Given the description of an element on the screen output the (x, y) to click on. 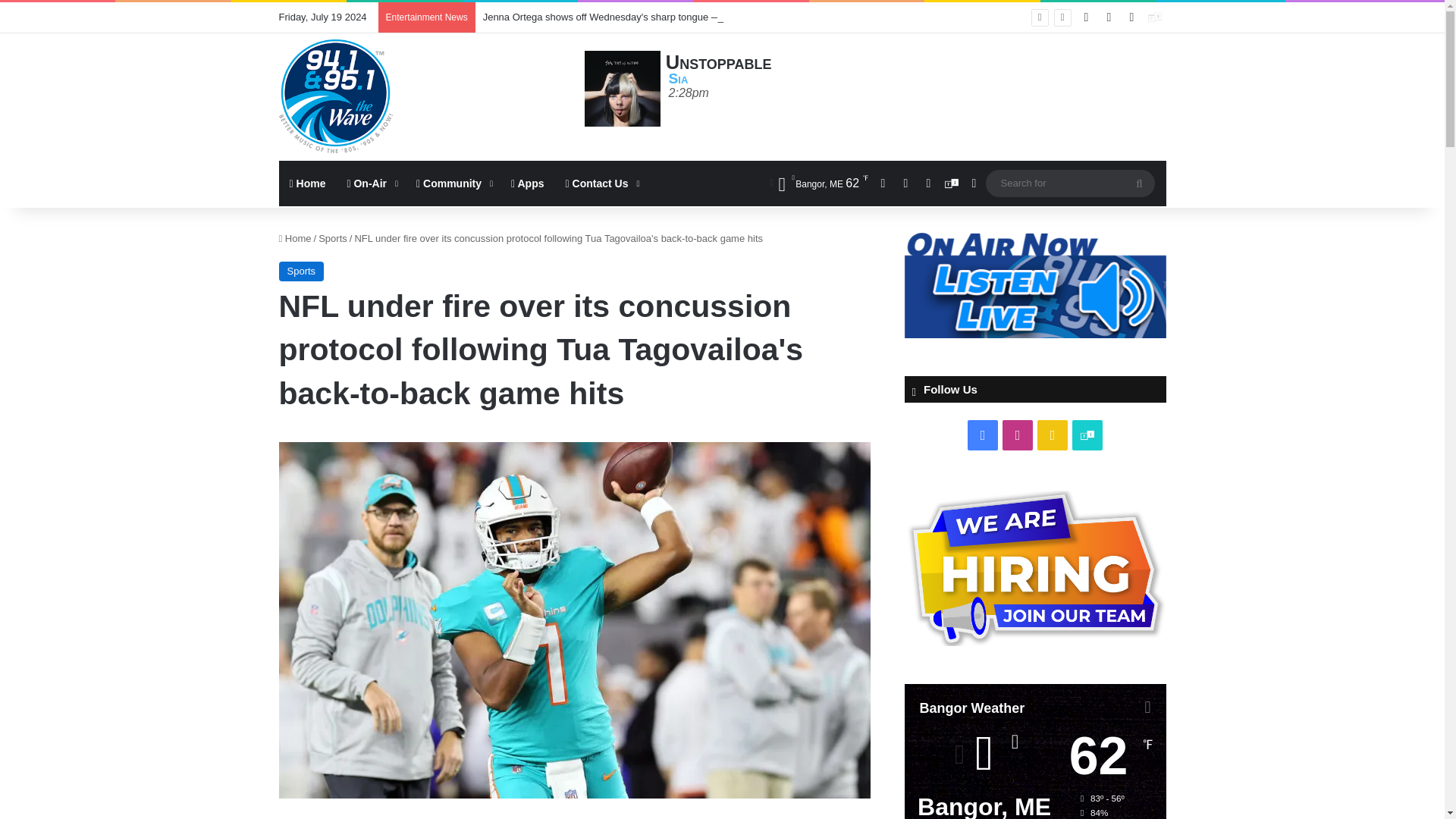
Home (307, 183)
Sports (301, 271)
Home (295, 238)
On-Air (371, 183)
Search for (1069, 182)
Search for (1139, 183)
Sports (332, 238)
941 The Wave (336, 96)
Scattered Clouds (817, 183)
Community (453, 183)
Apps (527, 183)
Contact Us (600, 183)
